Given the description of an element on the screen output the (x, y) to click on. 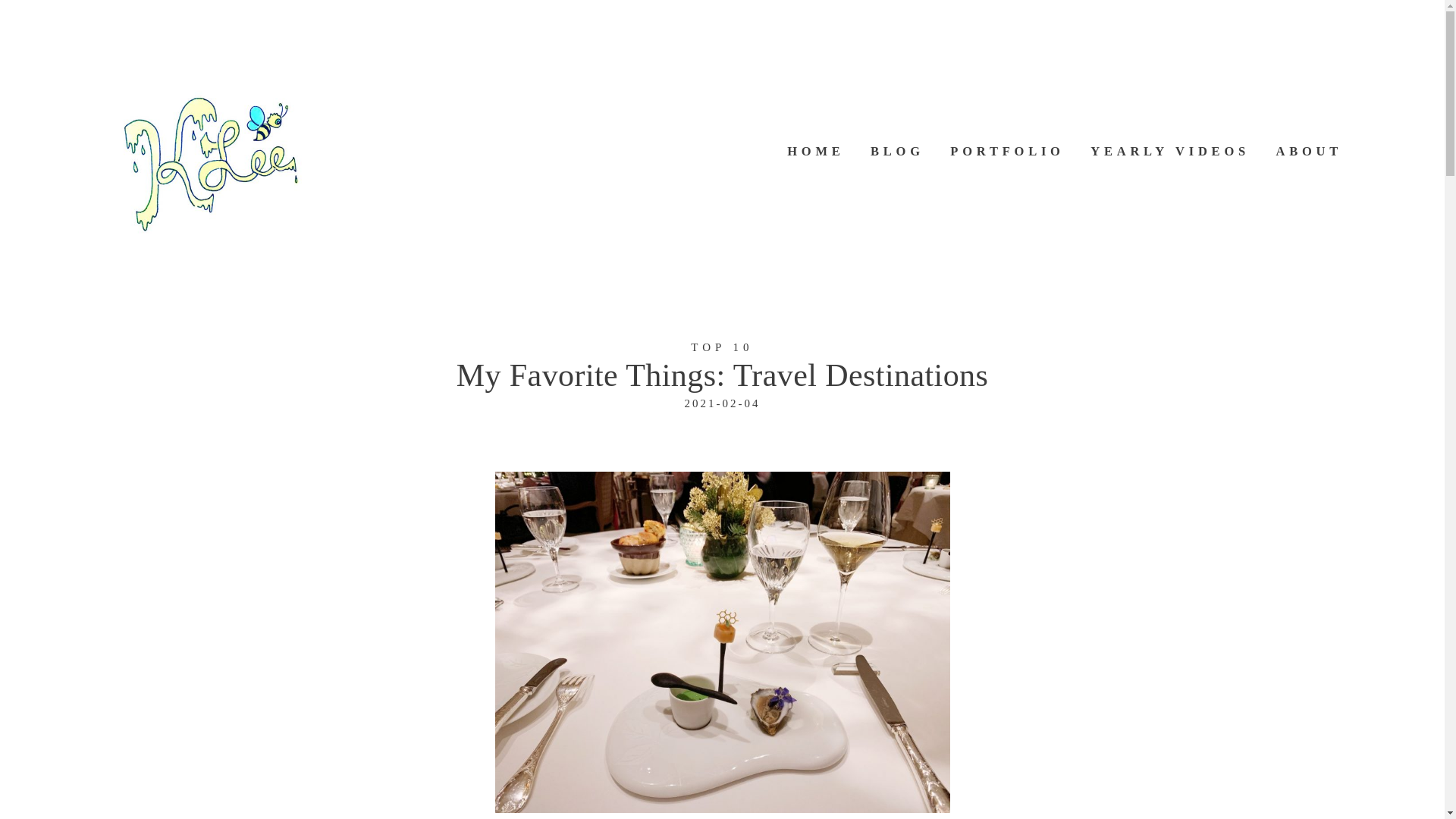
HOME (815, 151)
YEARLY VIDEOS (1169, 151)
BLOG (897, 151)
ABOUT (1308, 151)
TOP 10 (721, 346)
PORTFOLIO (1007, 151)
